Given the description of an element on the screen output the (x, y) to click on. 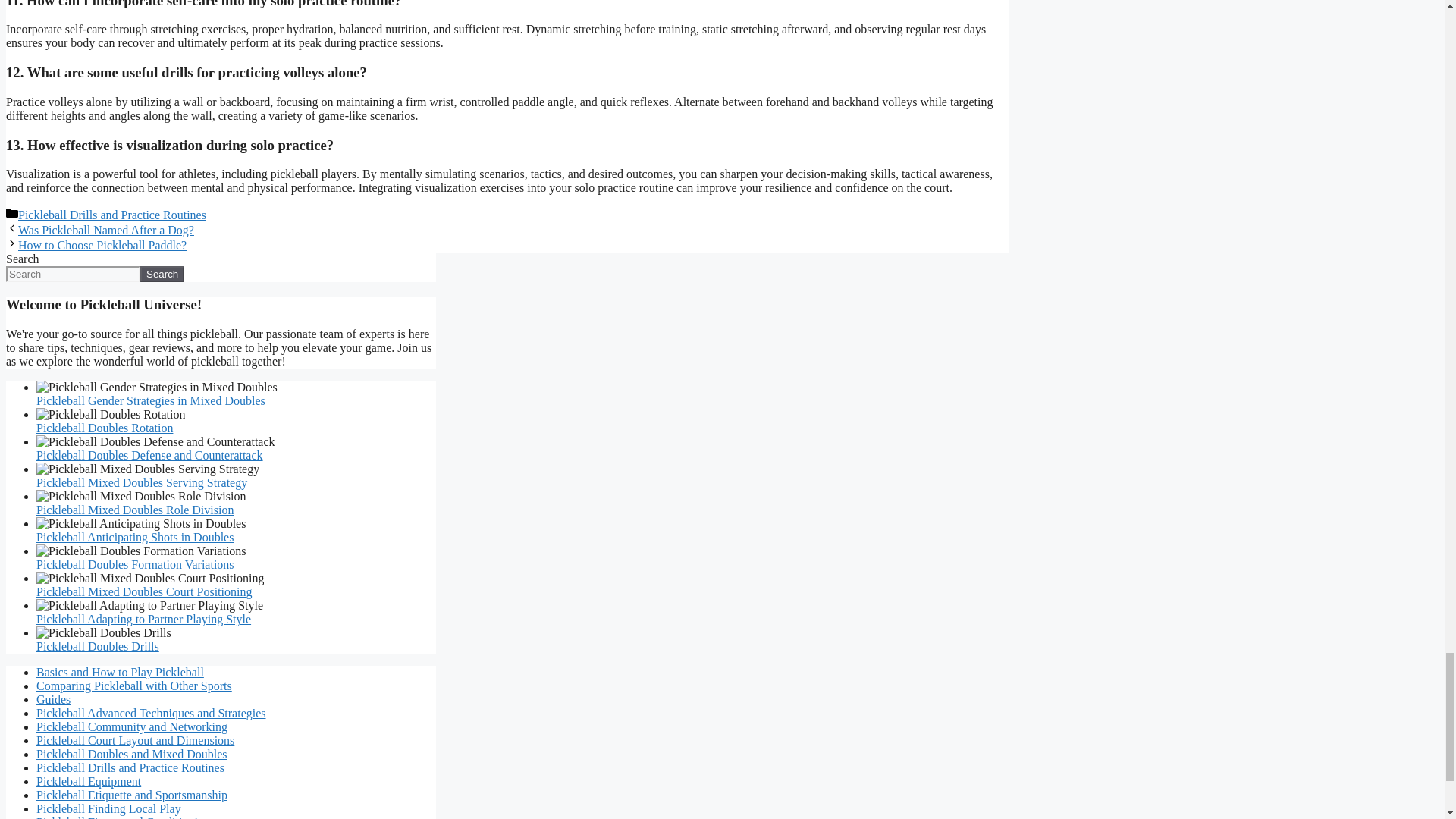
How to Choose Pickleball Paddle? (101, 245)
Pickleball Finding Local Play (108, 808)
Pickleball Mixed Doubles Serving Strategy (141, 481)
Pickleball Court Layout and Dimensions (135, 739)
Pickleball Anticipating Shots in Doubles (134, 536)
Pickleball Equipment (88, 780)
Pickleball Adapting to Partner Playing Style (143, 618)
Pickleball Etiquette and Sportsmanship (131, 794)
Pickleball Doubles Defense and Counterattack (149, 454)
Pickleball Drills and Practice Routines (130, 767)
Pickleball Doubles Formation Variations (135, 563)
Was Pickleball Named After a Dog? (105, 229)
Pickleball Gender Strategies in Mixed Doubles (150, 400)
Pickleball Mixed Doubles Role Division (134, 509)
Pickleball Doubles and Mixed Doubles (131, 753)
